Given the description of an element on the screen output the (x, y) to click on. 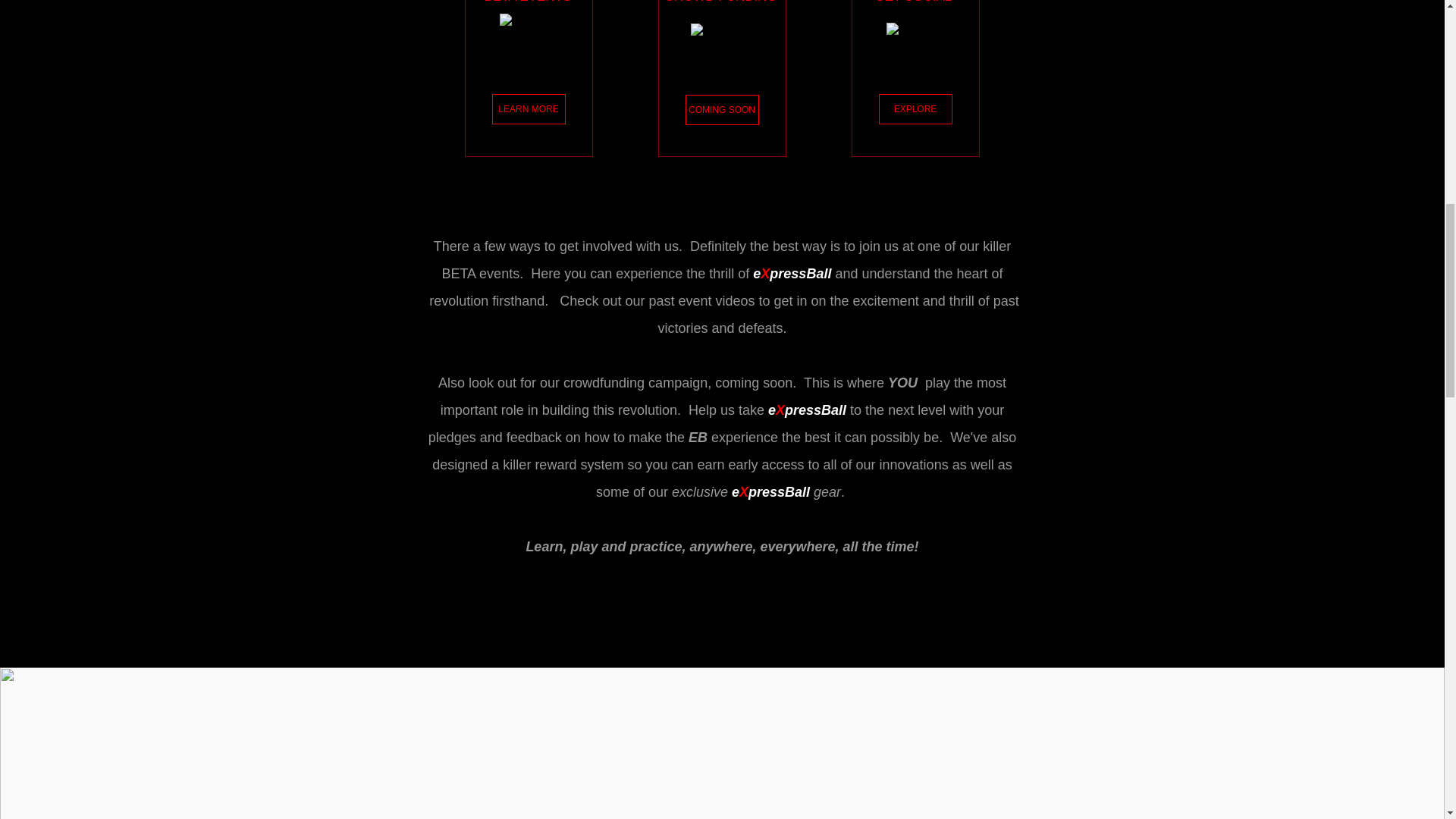
LEARN MORE (528, 109)
COMING SOON (721, 110)
EXPLORE (914, 109)
